Given the description of an element on the screen output the (x, y) to click on. 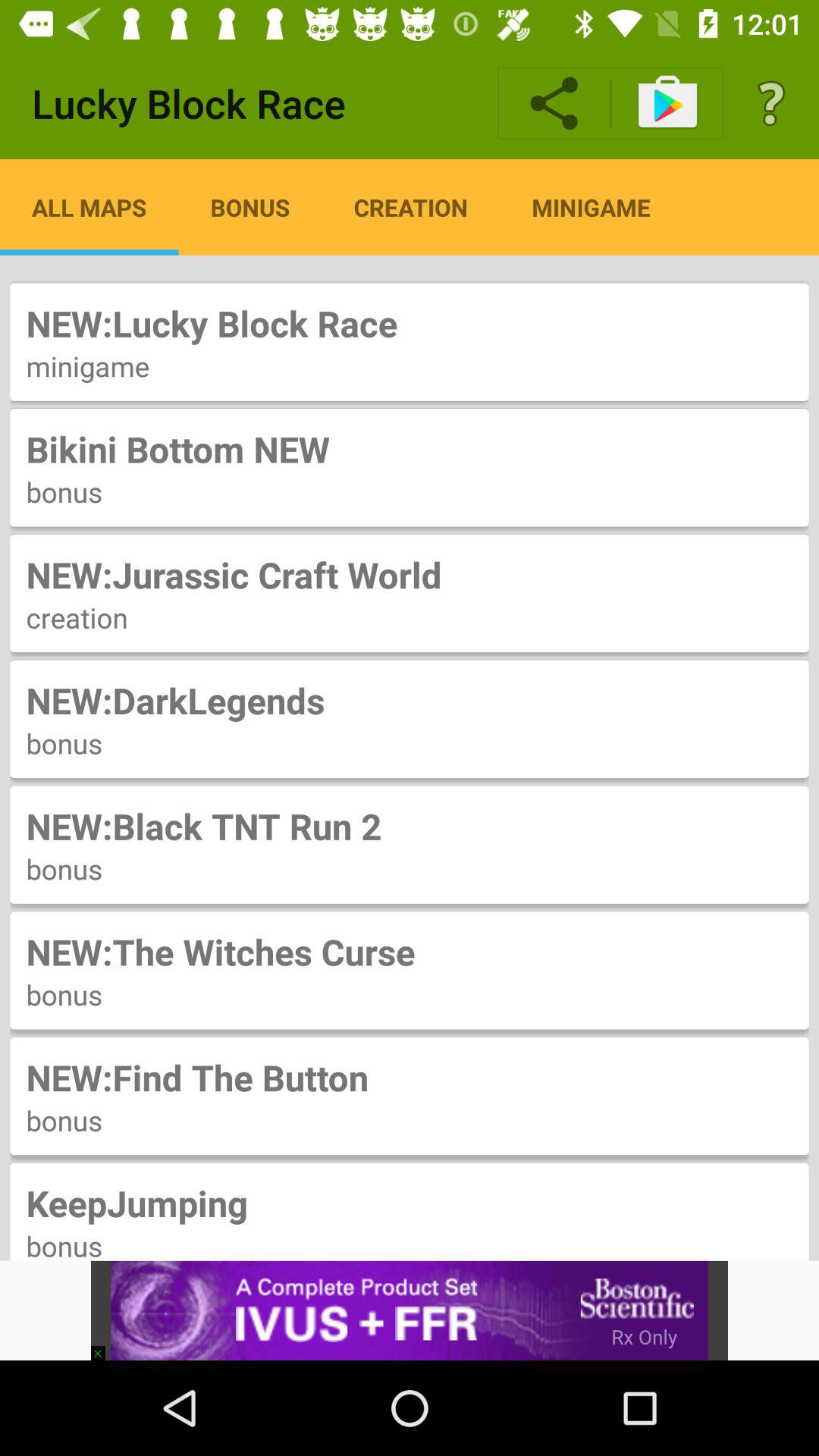
open the item at the bottom left corner (105, 1346)
